Given the description of an element on the screen output the (x, y) to click on. 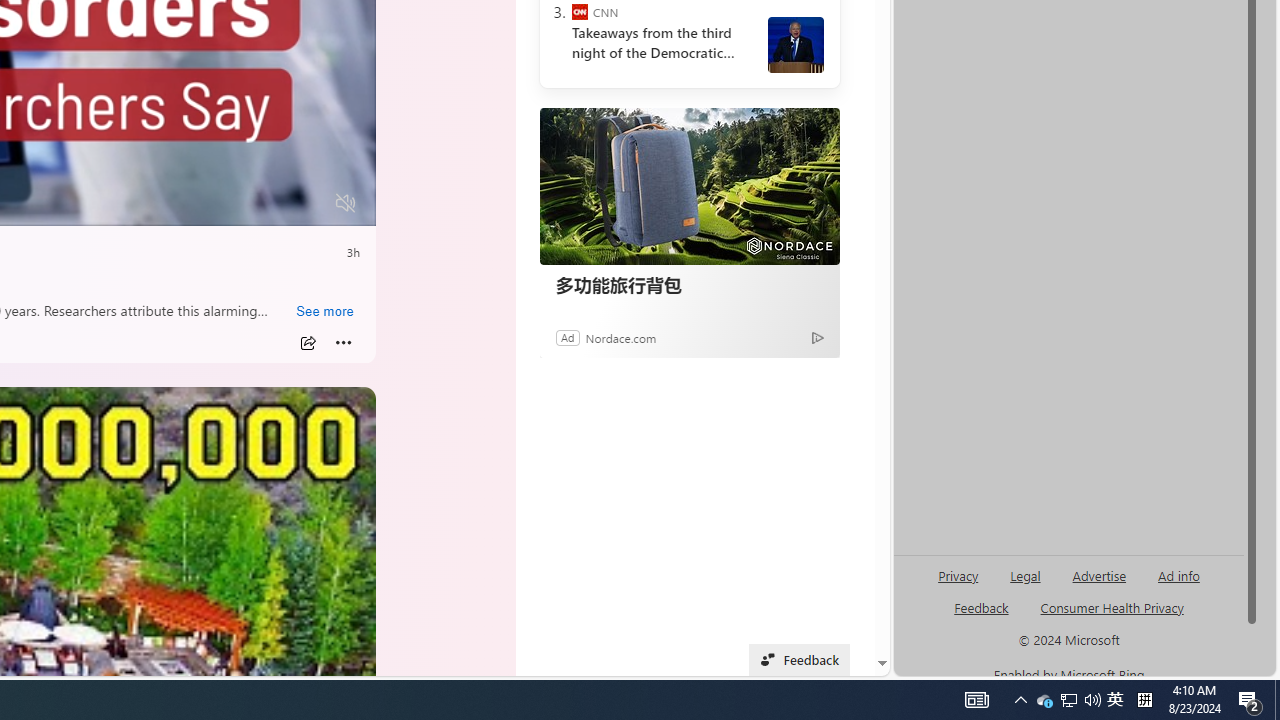
Unmute (346, 203)
